Given the description of an element on the screen output the (x, y) to click on. 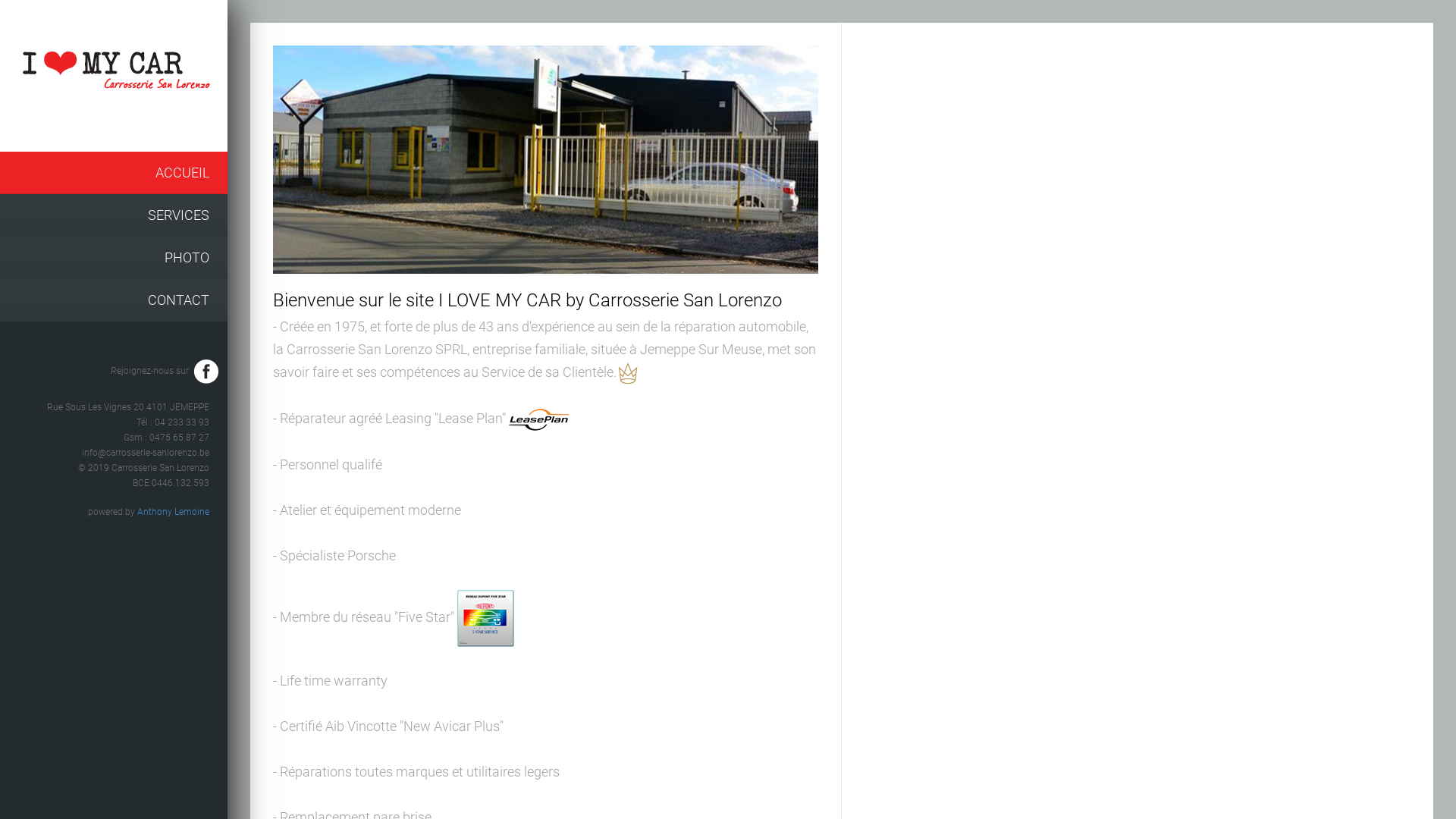
CONTACT Element type: text (113, 300)
ACCUEIL Element type: text (113, 172)
PHOTO Element type: text (113, 257)
Anthony Lemoine Element type: text (173, 511)
SERVICES Element type: text (113, 215)
